Given the description of an element on the screen output the (x, y) to click on. 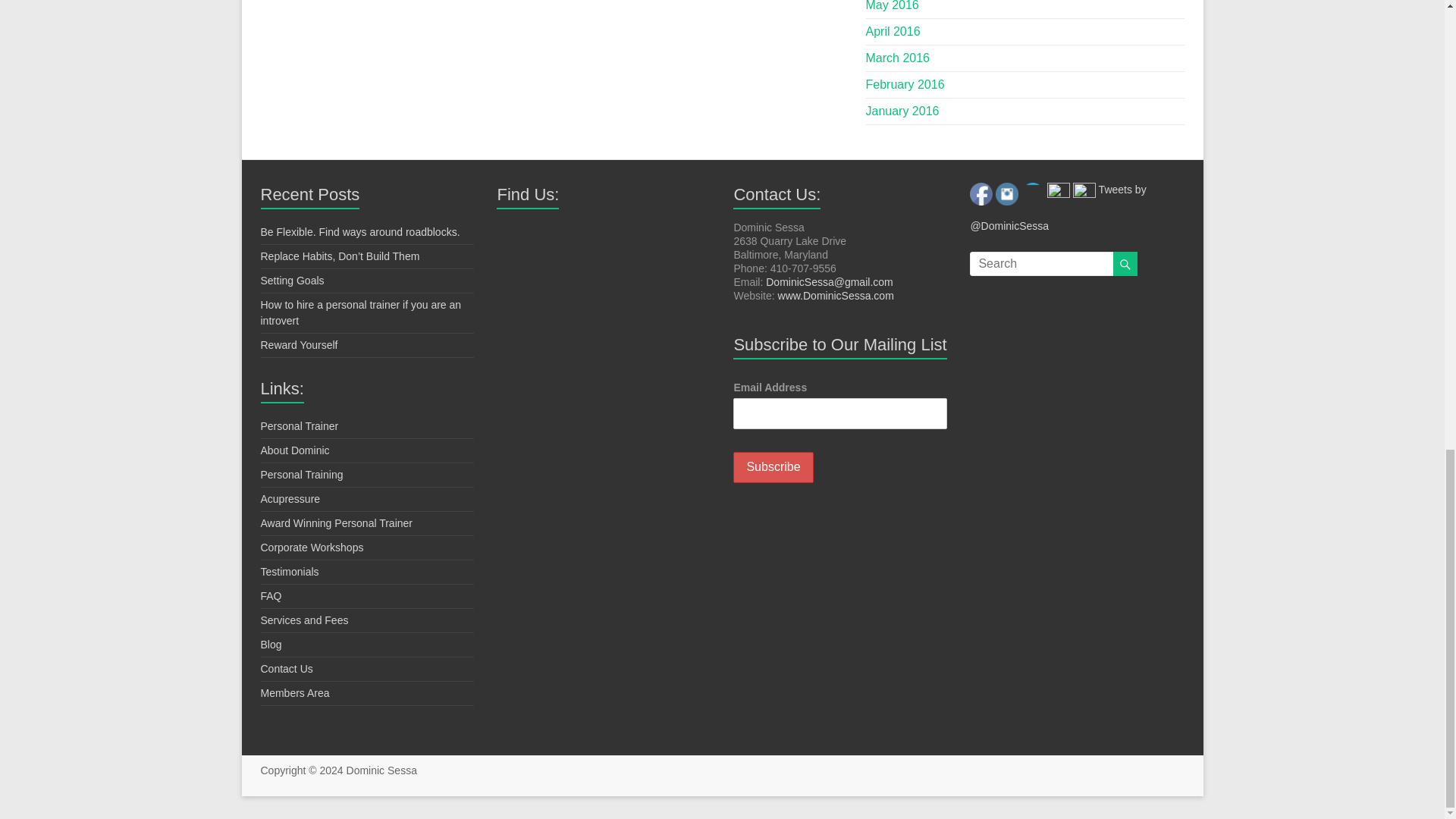
May 2016 (892, 5)
February 2016 (905, 83)
January 2016 (902, 110)
Be Flexible. Find ways around roadblocks. (360, 232)
April 2016 (893, 31)
Dominic Sessa (381, 770)
March 2016 (898, 57)
Subscribe (772, 467)
